Given the description of an element on the screen output the (x, y) to click on. 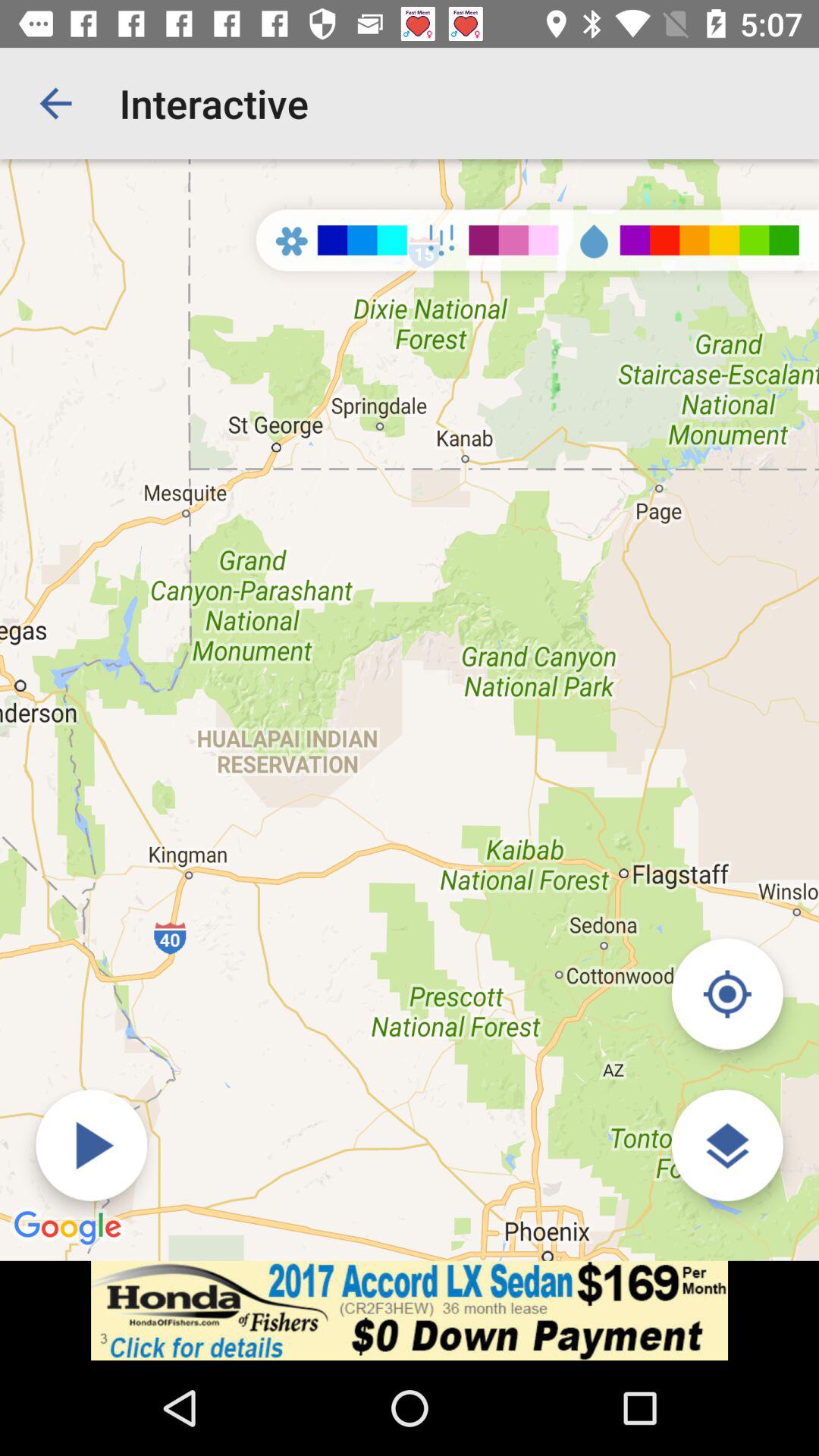
get current location (727, 993)
